Given the description of an element on the screen output the (x, y) to click on. 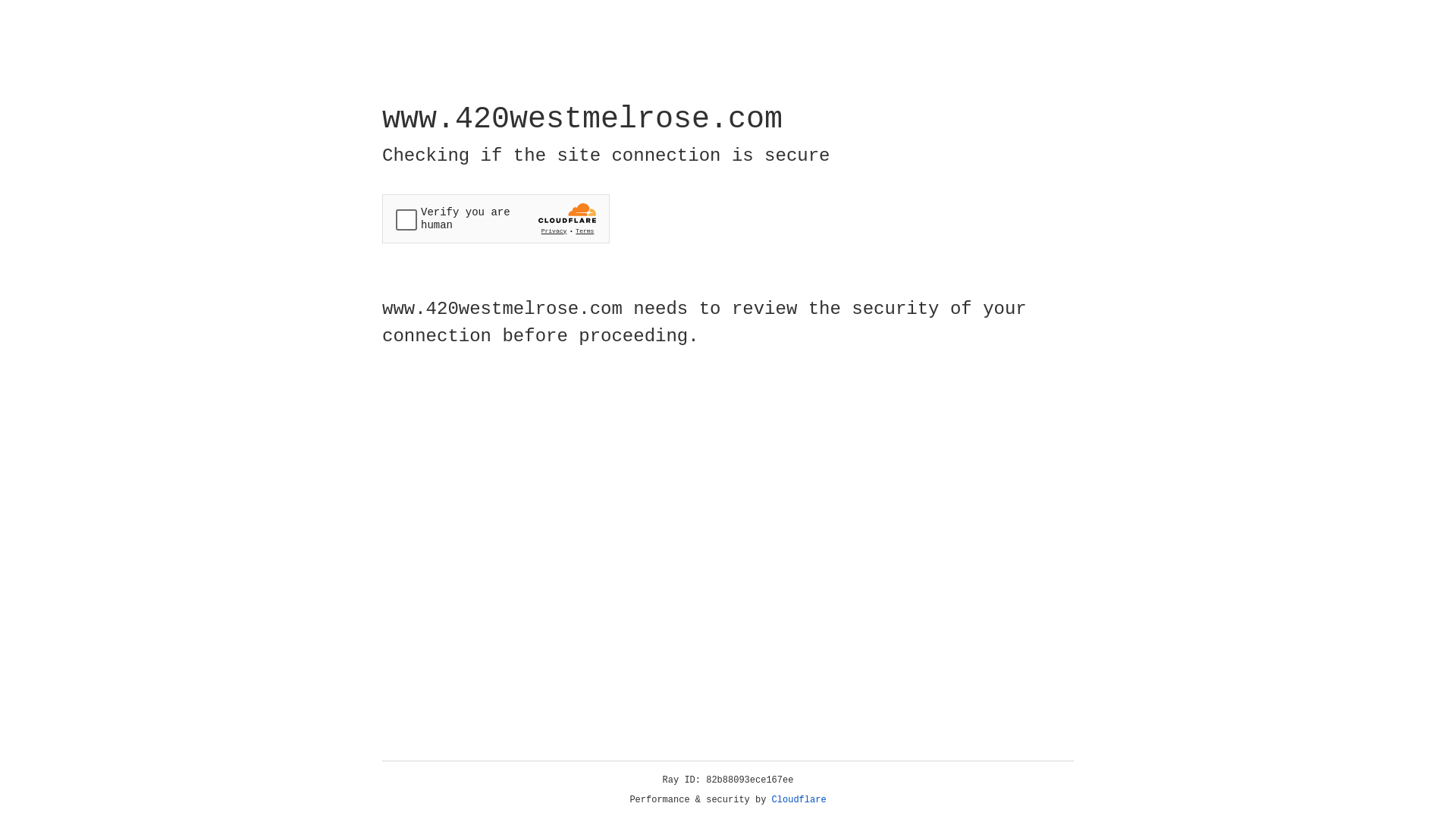
Widget containing a Cloudflare security challenge Element type: hover (495, 218)
Cloudflare Element type: text (798, 799)
